Given the description of an element on the screen output the (x, y) to click on. 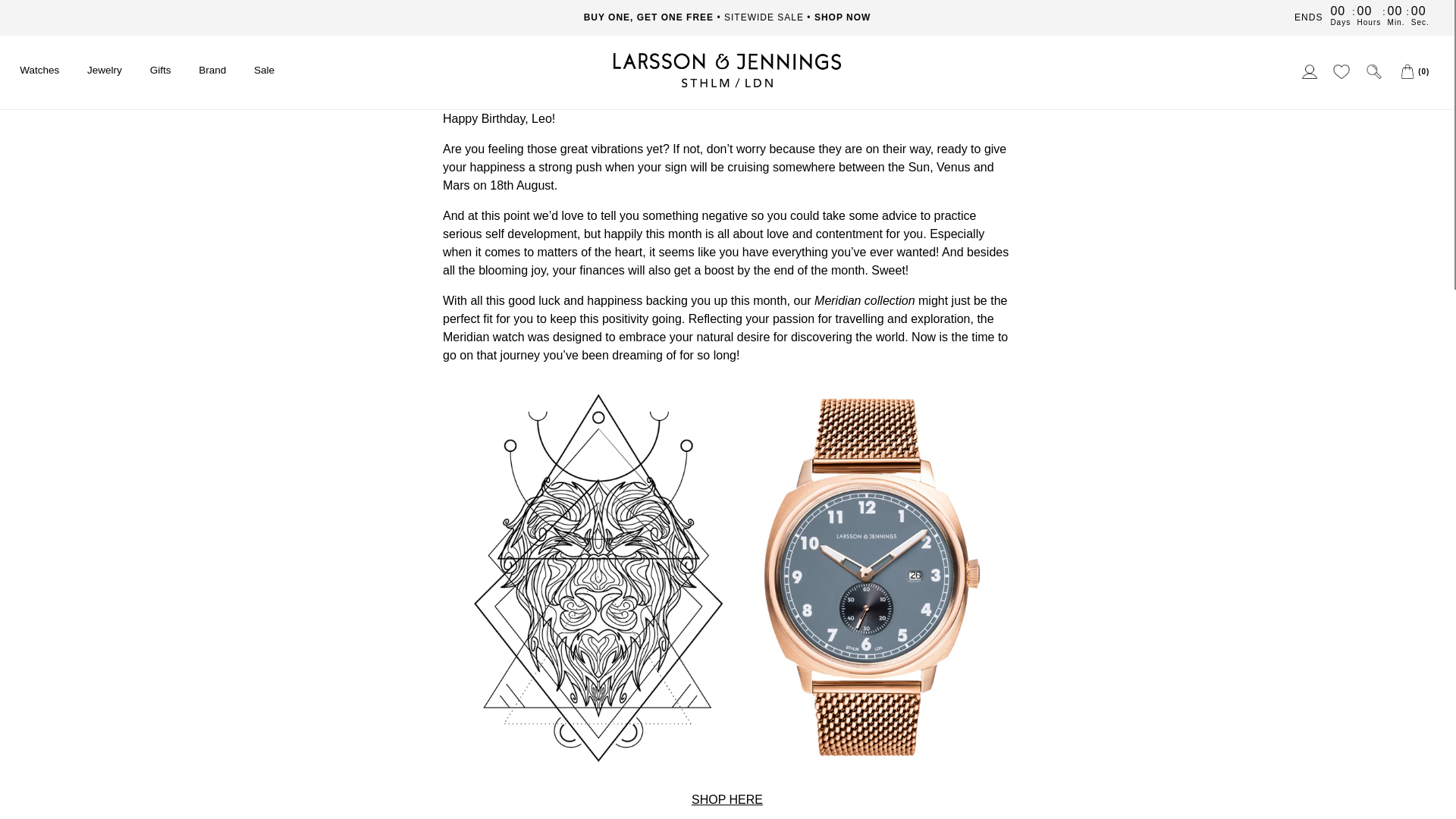
Watches (39, 70)
Jewelry (104, 70)
SEASONAL FAVORITES (726, 17)
